Given the description of an element on the screen output the (x, y) to click on. 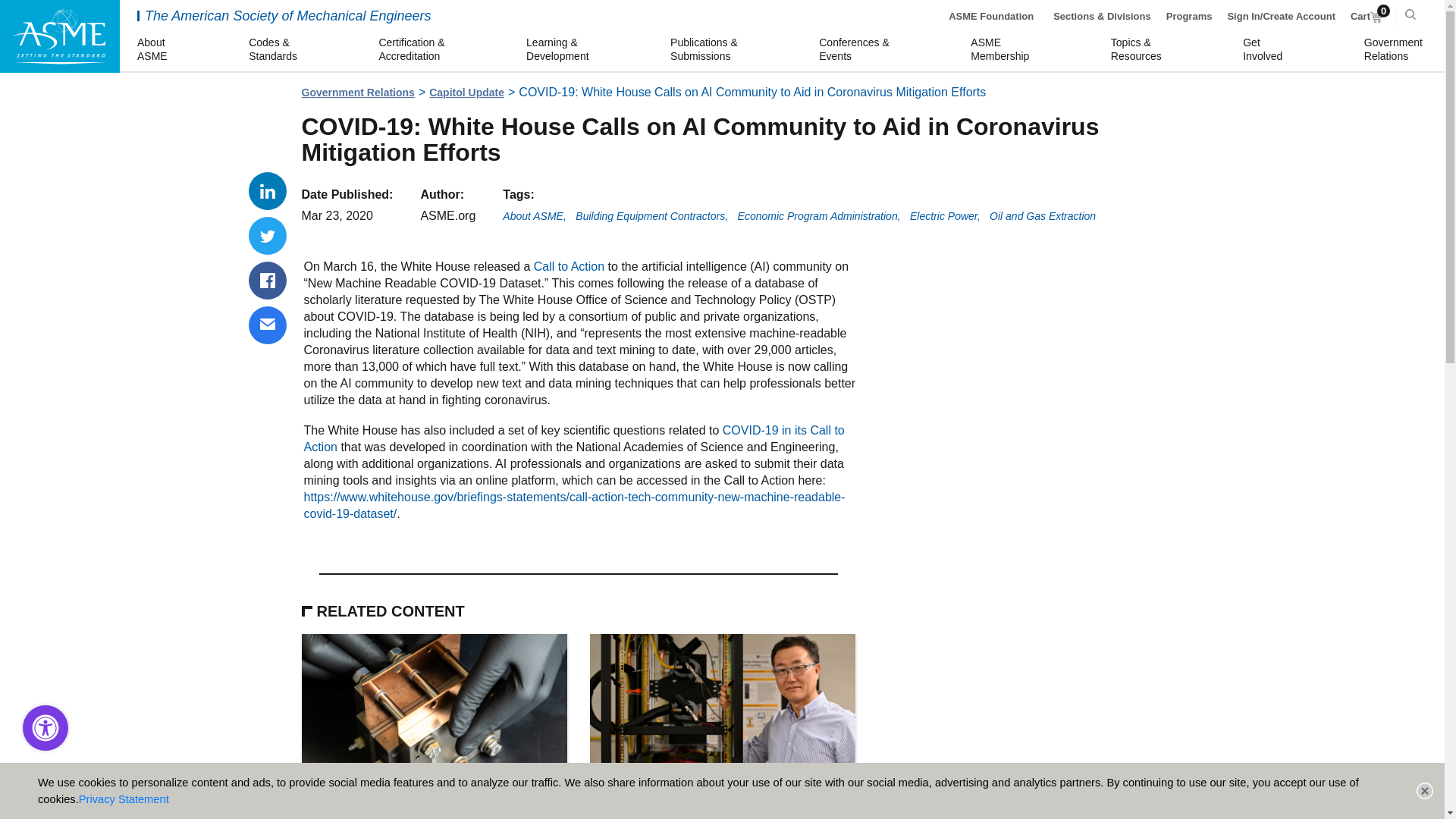
Economic Program Administration (819, 215)
Government Relations (357, 92)
Programs (1189, 16)
Oil and Gas Extraction (1043, 215)
Electric Power (1265, 49)
Call to Action (944, 215)
Share on Facebook (153, 49)
Share on Twitter (569, 265)
ASME Foundation (267, 280)
Close Banner (1395, 49)
Capitol Update (267, 235)
